Given the description of an element on the screen output the (x, y) to click on. 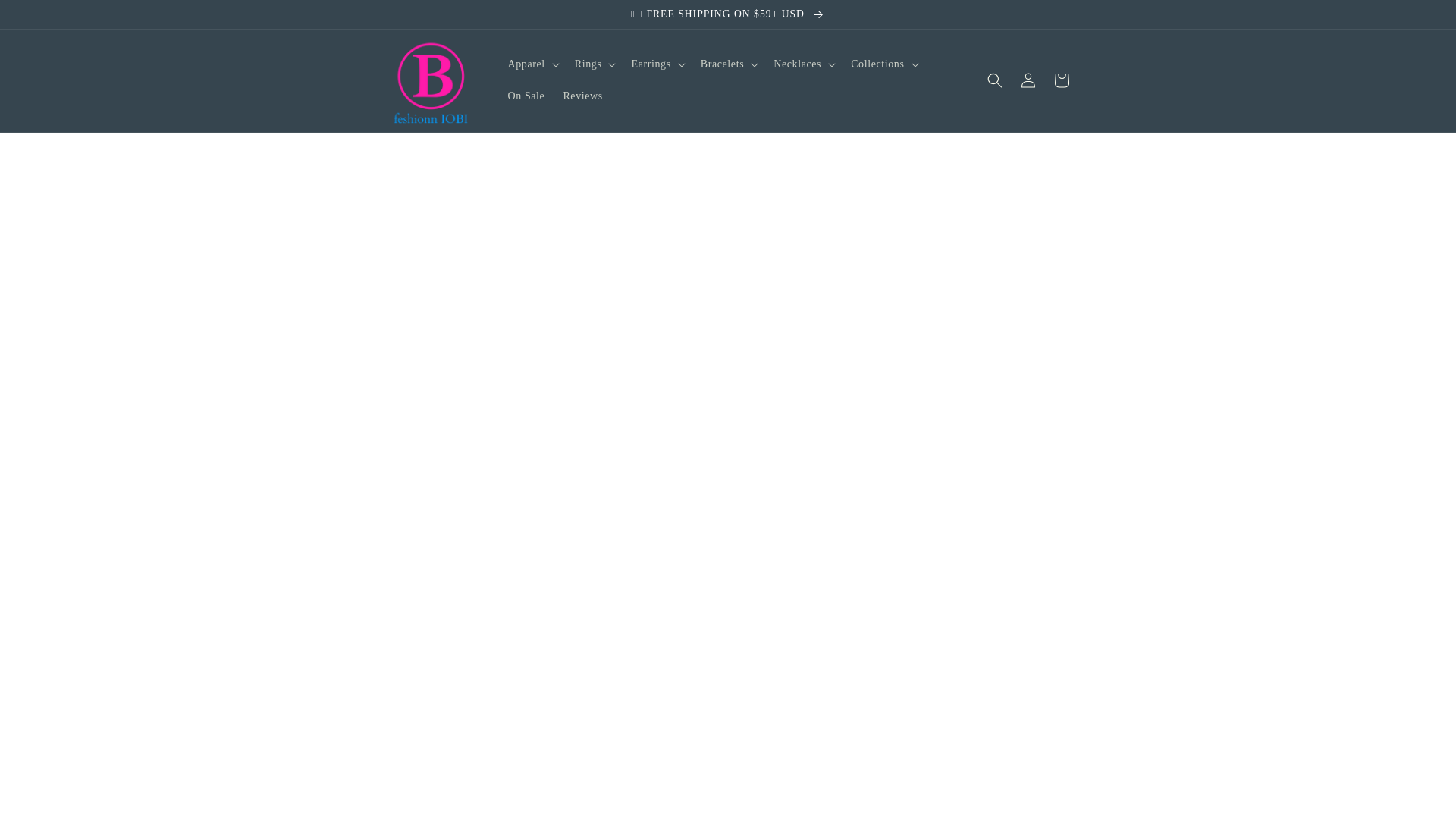
Skip to content (45, 17)
